Given the description of an element on the screen output the (x, y) to click on. 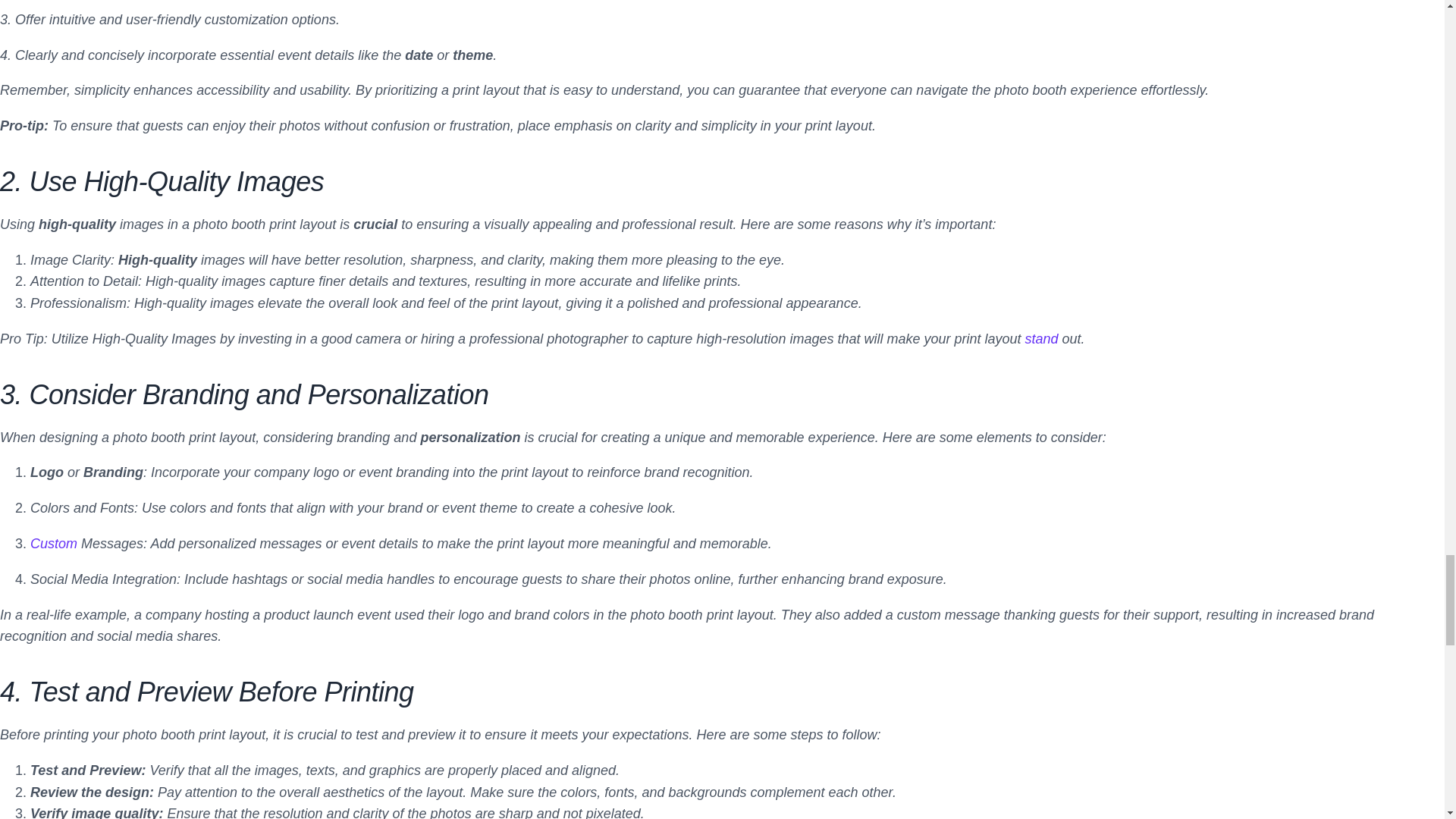
Custom (53, 543)
stand (1041, 338)
Custom (53, 543)
stand (1041, 338)
